Given the description of an element on the screen output the (x, y) to click on. 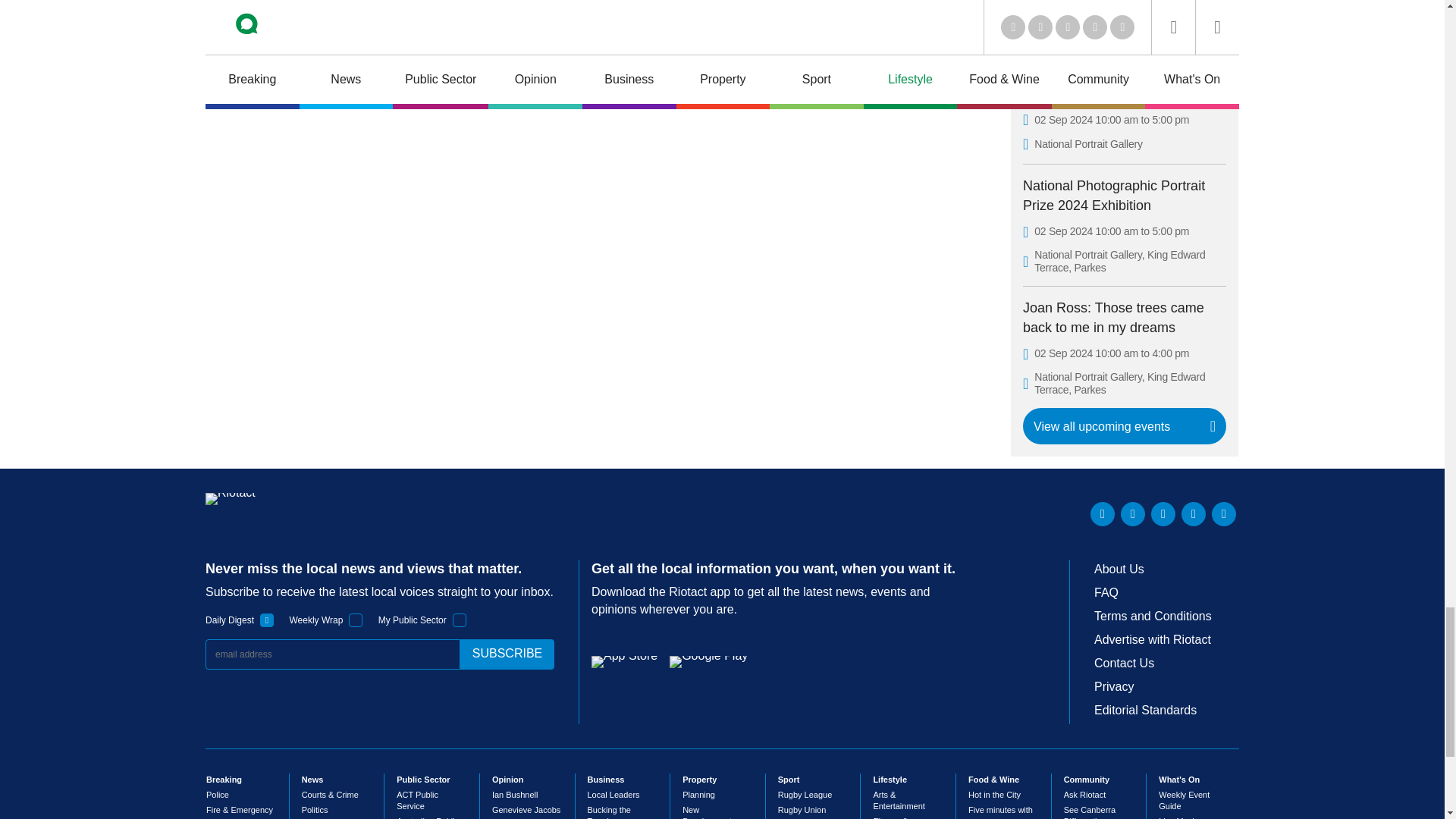
1 (355, 620)
LinkedIn (1102, 514)
Youtube (1162, 514)
Facebook (1192, 514)
subscribe (507, 654)
Twitter (1132, 514)
App Store (624, 662)
Instagram (1223, 514)
1 (266, 620)
1 (458, 620)
